Given the description of an element on the screen output the (x, y) to click on. 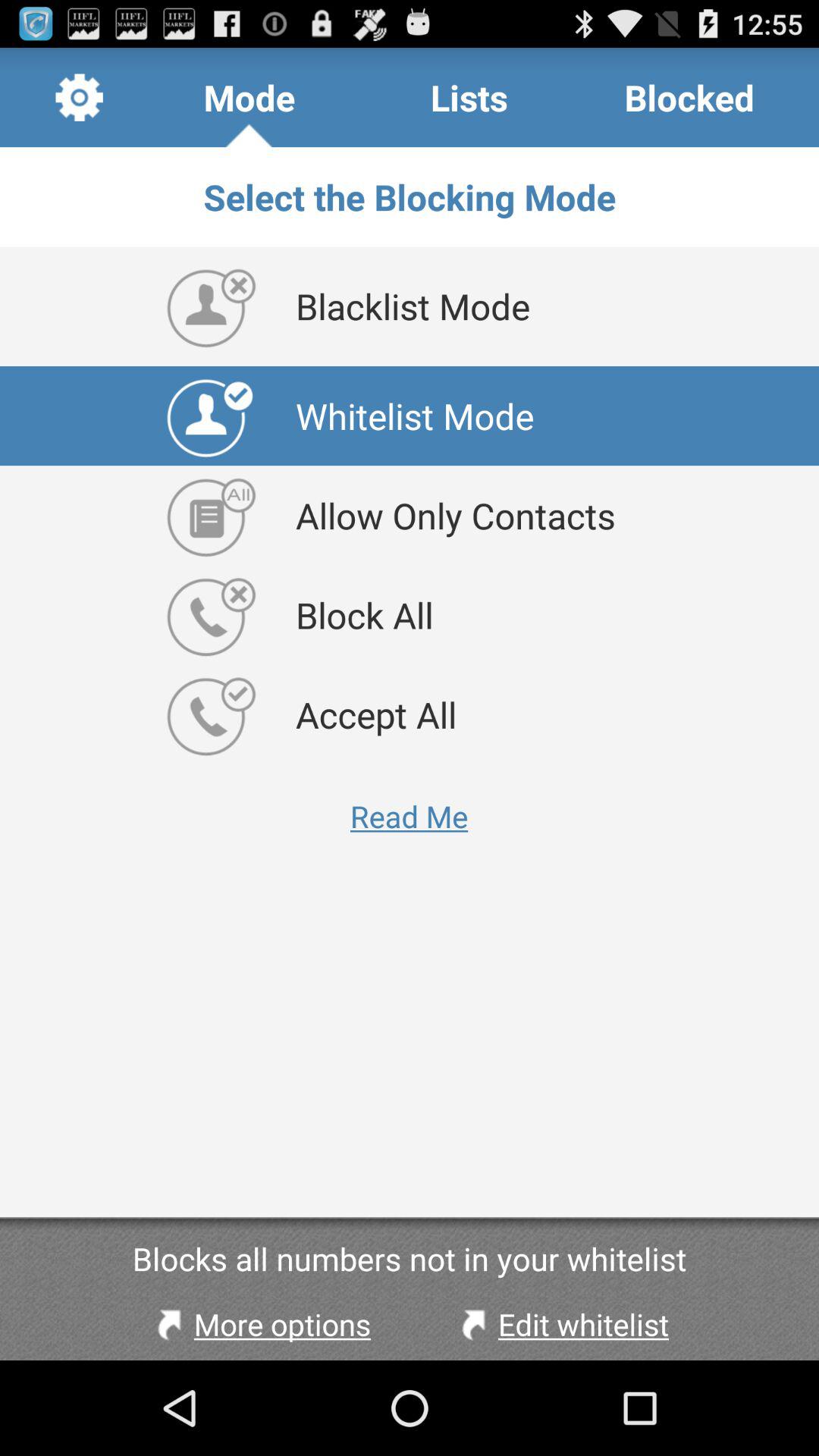
flip until the edit whitelist icon (561, 1324)
